Given the description of an element on the screen output the (x, y) to click on. 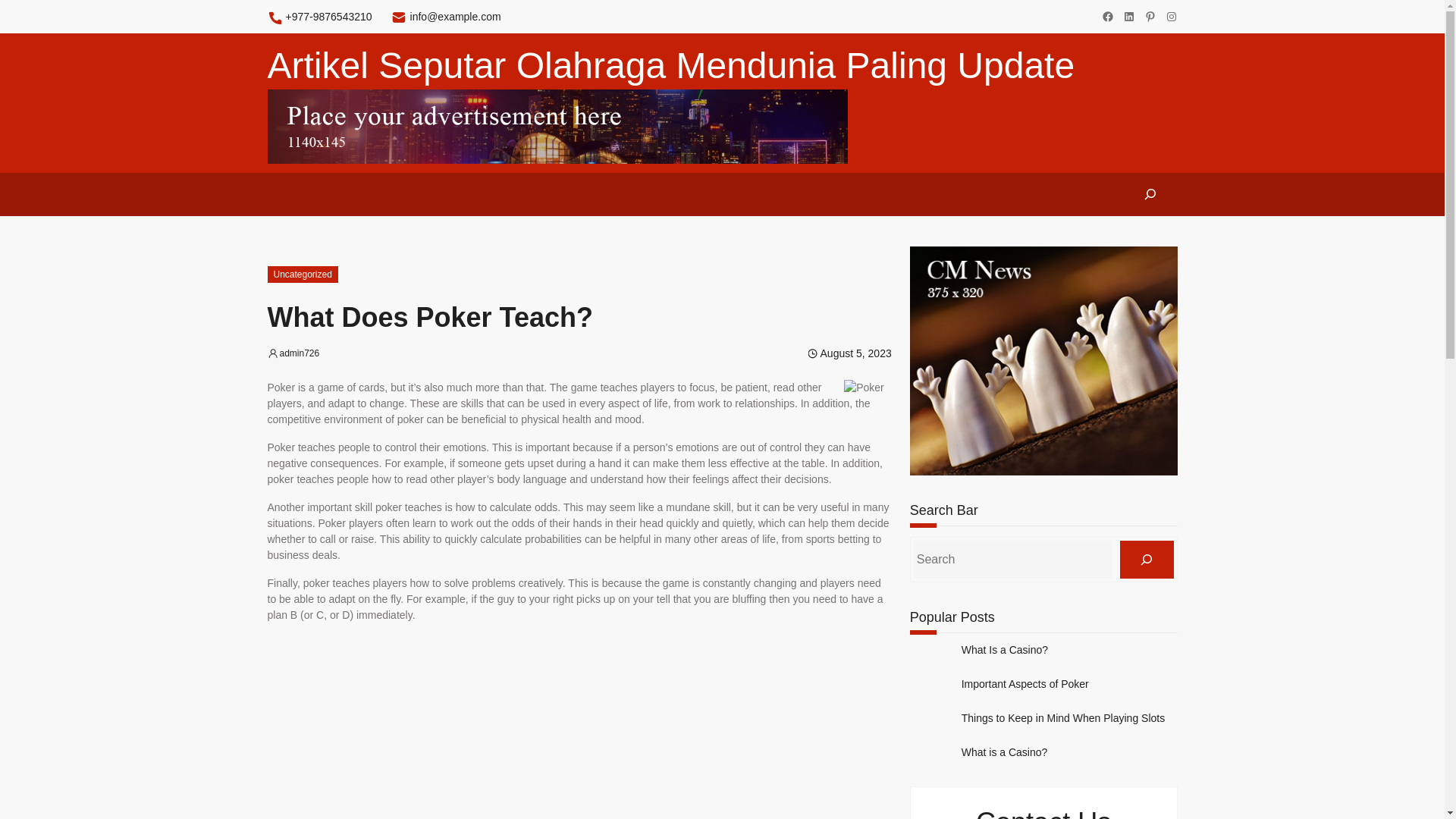
Artikel Seputar Olahraga Mendunia Paling Update (670, 65)
What is a Casino? (1004, 752)
Instagram (1170, 16)
What Is a Casino? (1004, 649)
Facebook (1106, 16)
Important Aspects of Poker (1024, 684)
Pinterest (1149, 16)
LinkedIn (1128, 16)
Things to Keep in Mind When Playing Slots (1062, 717)
Uncategorized (301, 274)
